Given the description of an element on the screen output the (x, y) to click on. 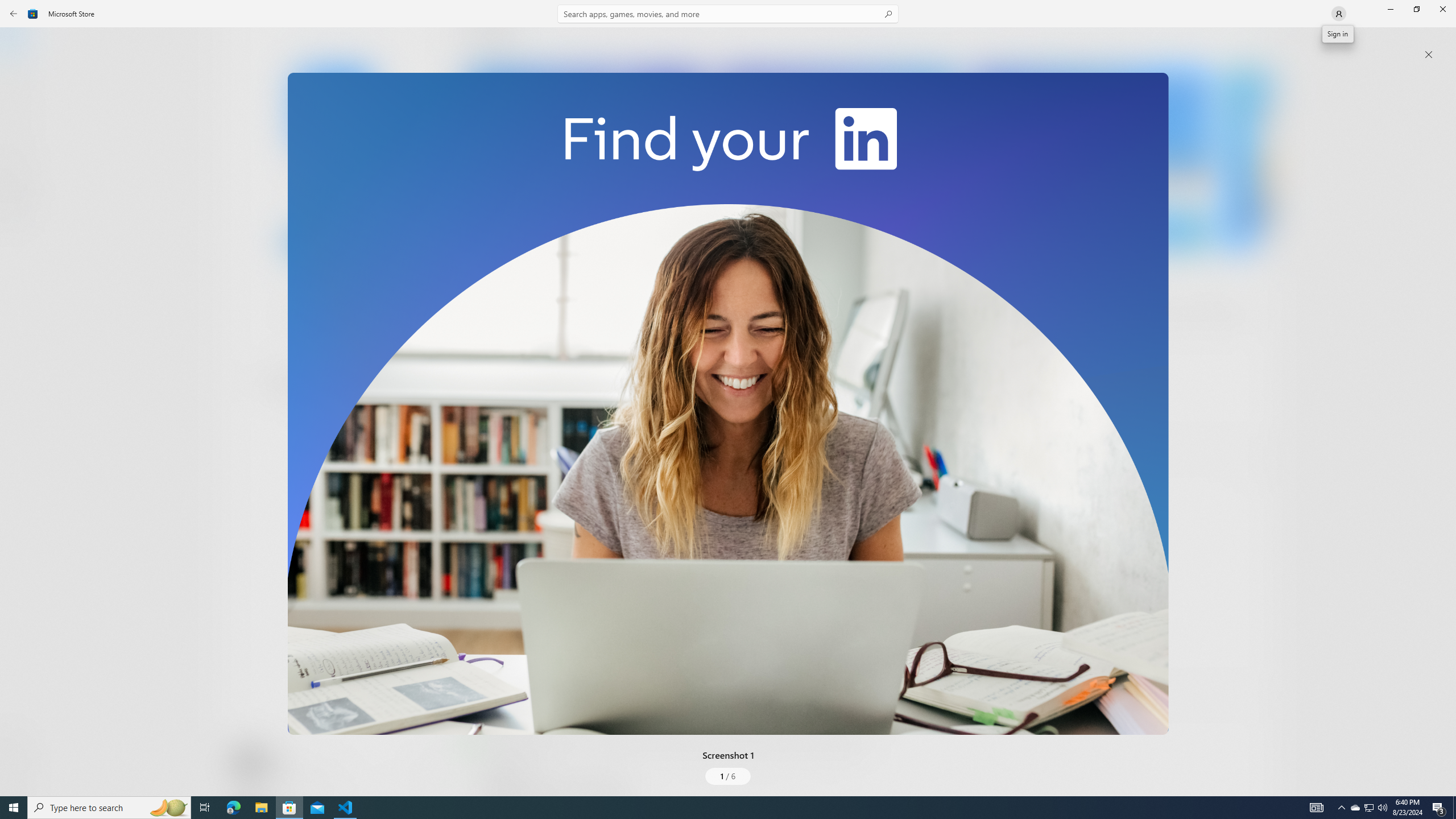
Show all ratings and reviews (1253, 465)
Minimize Microsoft Store (1390, 9)
AI Hub (20, 221)
Arcade (20, 150)
AutomationID: NavigationControl (728, 398)
close popup window (1428, 54)
Close Microsoft Store (1442, 9)
Share (424, 769)
Screenshot 3 (1089, 158)
Home (20, 45)
LinkedIn (332, 189)
Entertainment (20, 185)
Get (334, 241)
Age rating: TEEN. Click for more information. (276, 762)
